Given the description of an element on the screen output the (x, y) to click on. 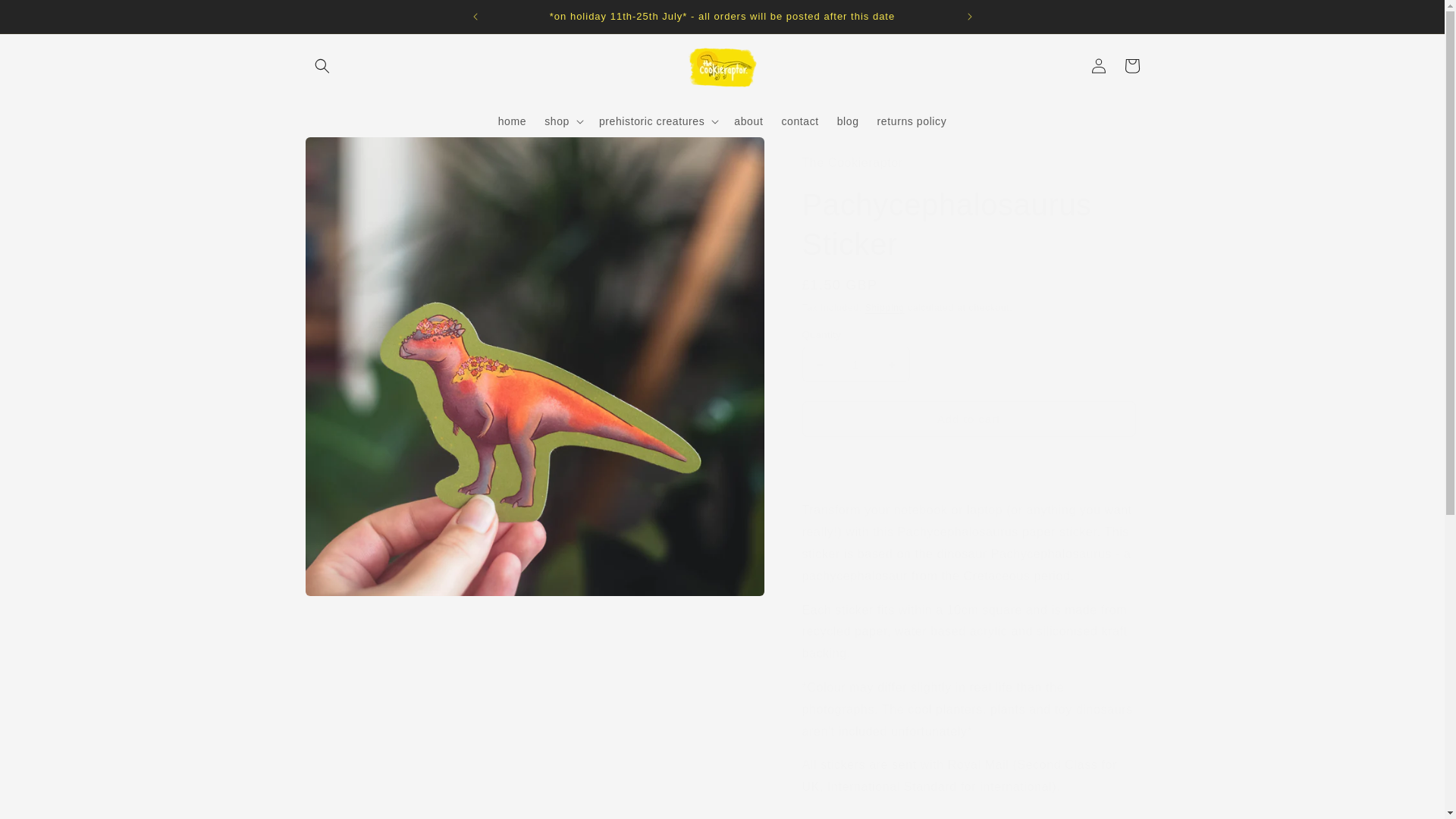
Skip to content (45, 17)
1 (856, 364)
